Given the description of an element on the screen output the (x, y) to click on. 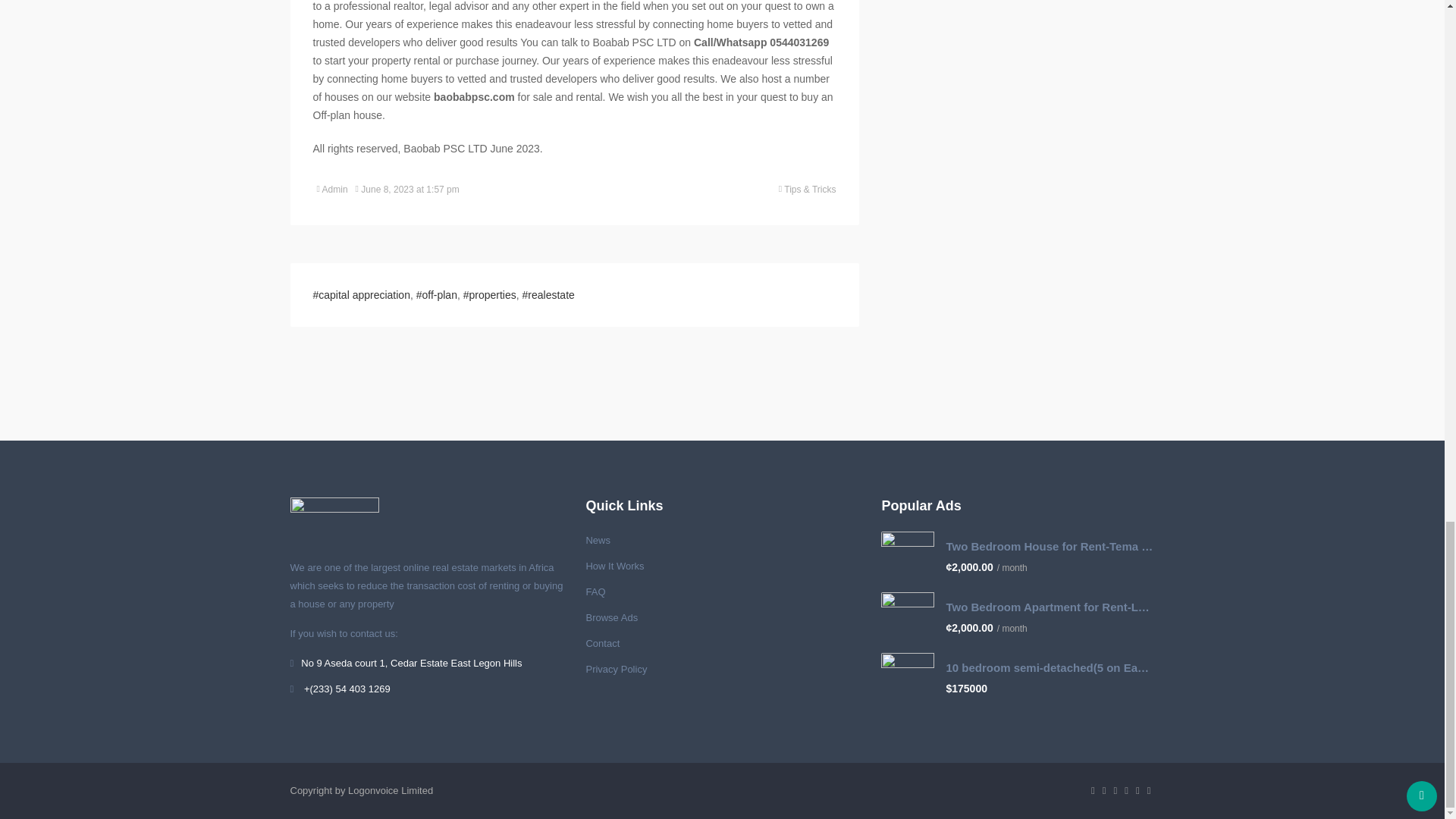
News (597, 539)
How It Works (614, 565)
